Given the description of an element on the screen output the (x, y) to click on. 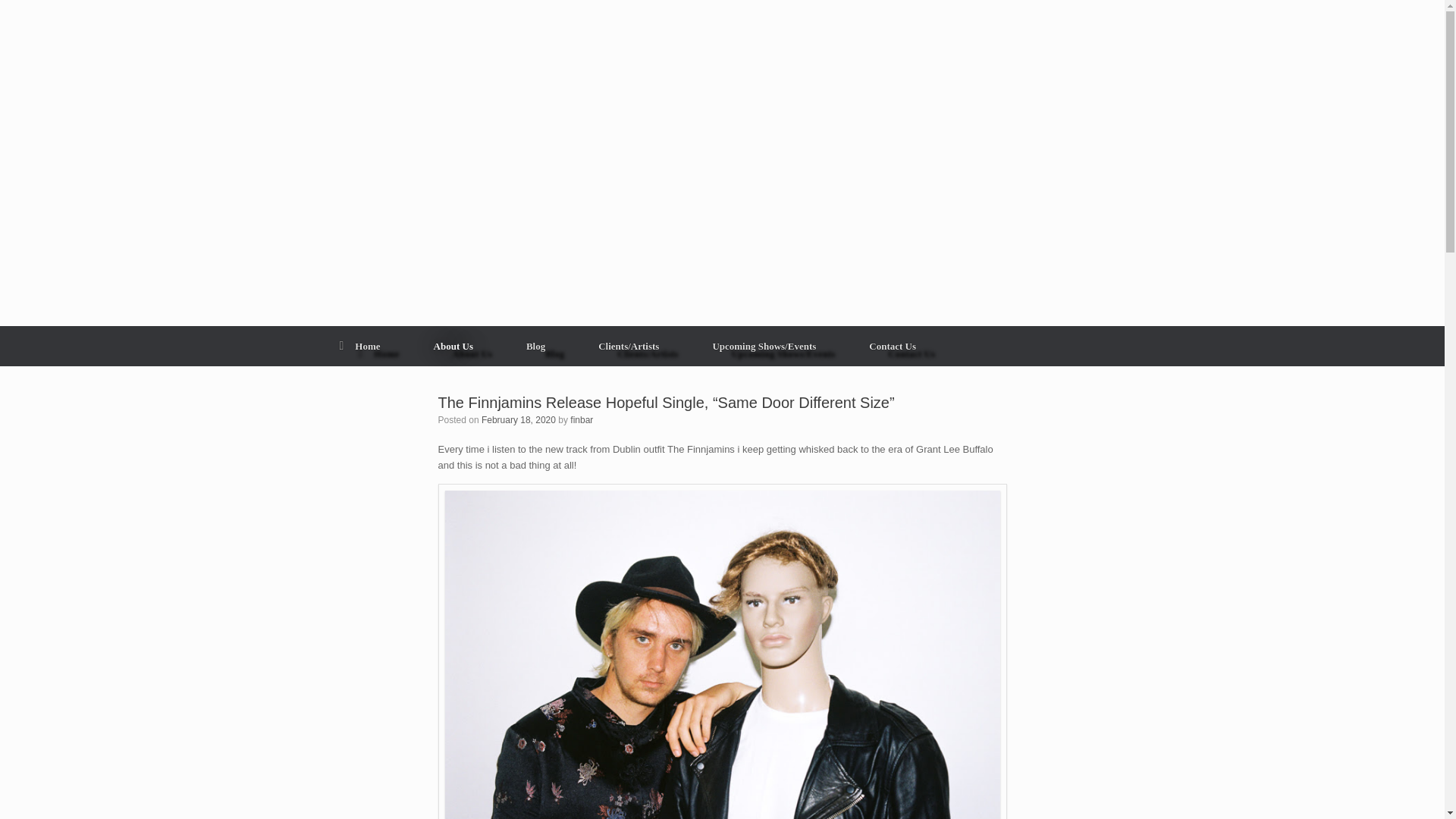
finbar (581, 419)
Home (359, 345)
Contact Us (892, 345)
Blog (535, 345)
6:33 pm (518, 419)
About Us (453, 345)
February 18, 2020 (518, 419)
View all posts by finbar (581, 419)
